Given the description of an element on the screen output the (x, y) to click on. 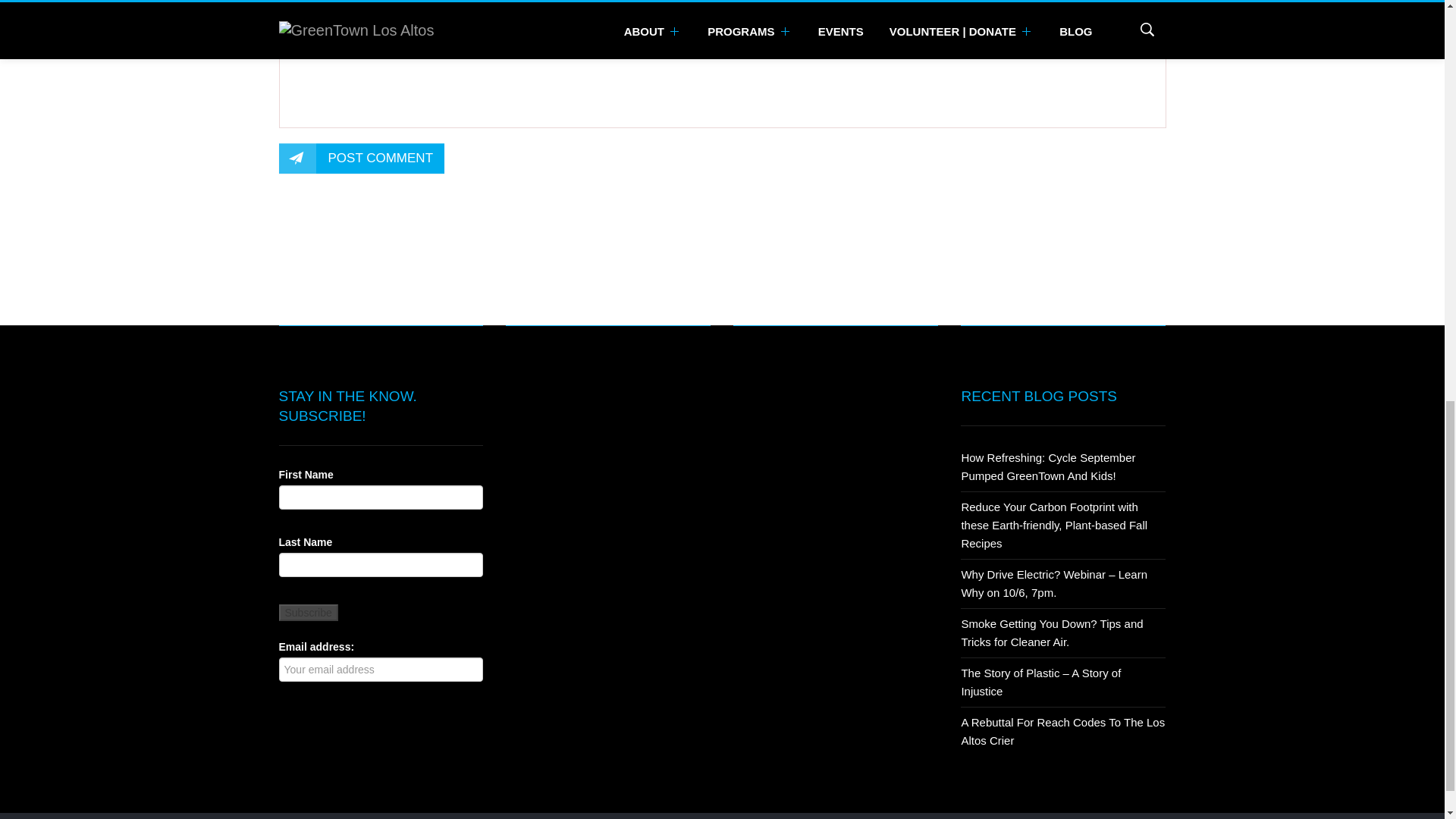
Subscribe (308, 612)
